Given the description of an element on the screen output the (x, y) to click on. 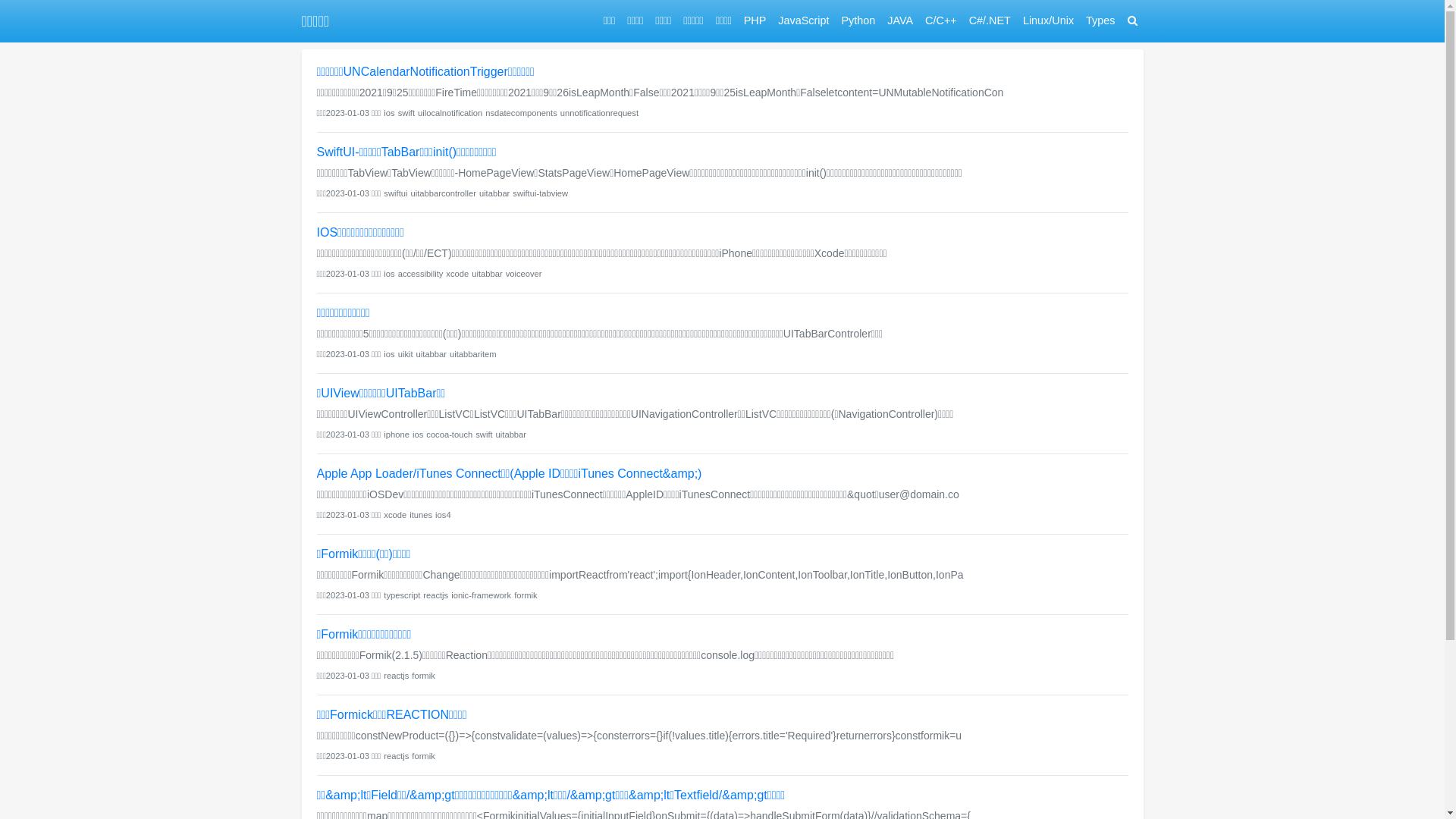
C/C++ Element type: text (941, 20)
uilocalnotification Element type: text (449, 112)
uitabbar Element type: text (431, 353)
Python Element type: text (857, 20)
ionic-framework Element type: text (481, 594)
accessibility Element type: text (420, 273)
Linux/Unix Element type: text (1047, 20)
uitabbar Element type: text (486, 273)
itunes Element type: text (420, 514)
Types Element type: text (1099, 20)
JavaScript Element type: text (802, 20)
swiftui-tabview Element type: text (539, 192)
ios4 Element type: text (443, 514)
xcode Element type: text (456, 273)
ios Element type: text (388, 273)
uitabbar Element type: text (494, 192)
typescript Element type: text (401, 594)
uitabbar Element type: text (510, 434)
nsdatecomponents Element type: text (521, 112)
ios Element type: text (417, 434)
reactjs Element type: text (395, 675)
formik Element type: text (422, 755)
reactjs Element type: text (435, 594)
formik Element type: text (525, 594)
ios Element type: text (388, 353)
formik Element type: text (422, 675)
swift Element type: text (483, 434)
xcode Element type: text (394, 514)
uitabbarcontroller Element type: text (442, 192)
C#/.NET Element type: text (989, 20)
iphone Element type: text (396, 434)
cocoa-touch Element type: text (449, 434)
swift Element type: text (406, 112)
voiceover Element type: text (523, 273)
unnotificationrequest Element type: text (599, 112)
PHP Element type: text (754, 20)
swiftui Element type: text (395, 192)
uitabbaritem Element type: text (472, 353)
ios Element type: text (388, 112)
JAVA Element type: text (900, 20)
reactjs Element type: text (395, 755)
uikit Element type: text (405, 353)
